Given the description of an element on the screen output the (x, y) to click on. 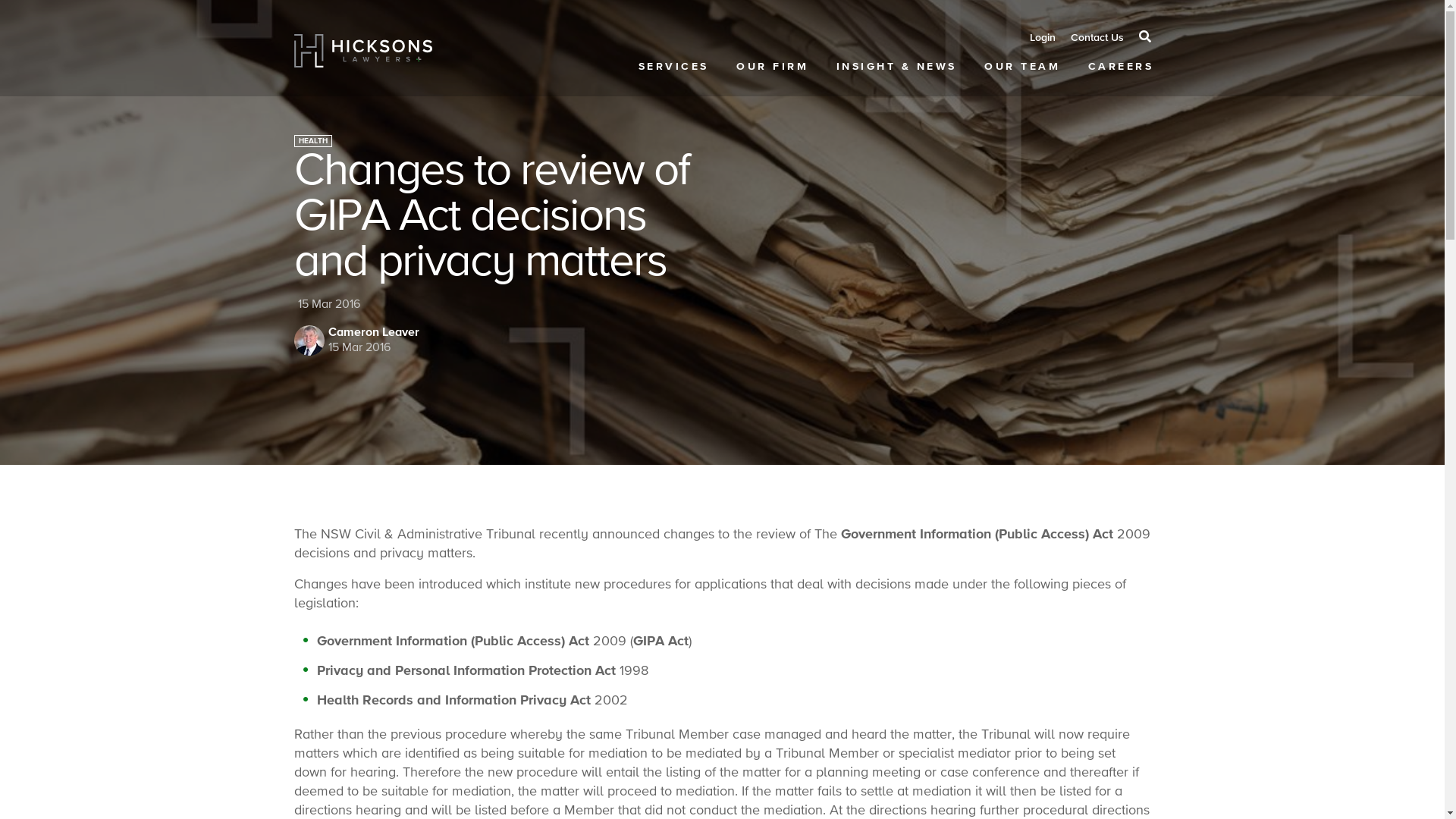
OUR FIRM Element type: text (771, 66)
SERVICES Element type: text (672, 66)
INSIGHT & NEWS Element type: text (894, 66)
Hicksons Lawyers Element type: hover (363, 50)
Cameron Leaver Element type: text (372, 332)
CAREERS Element type: text (1118, 66)
HEALTH Element type: text (312, 140)
Contact Us Element type: text (1096, 37)
OUR TEAM Element type: text (1020, 66)
Login Element type: text (1042, 37)
